Given the description of an element on the screen output the (x, y) to click on. 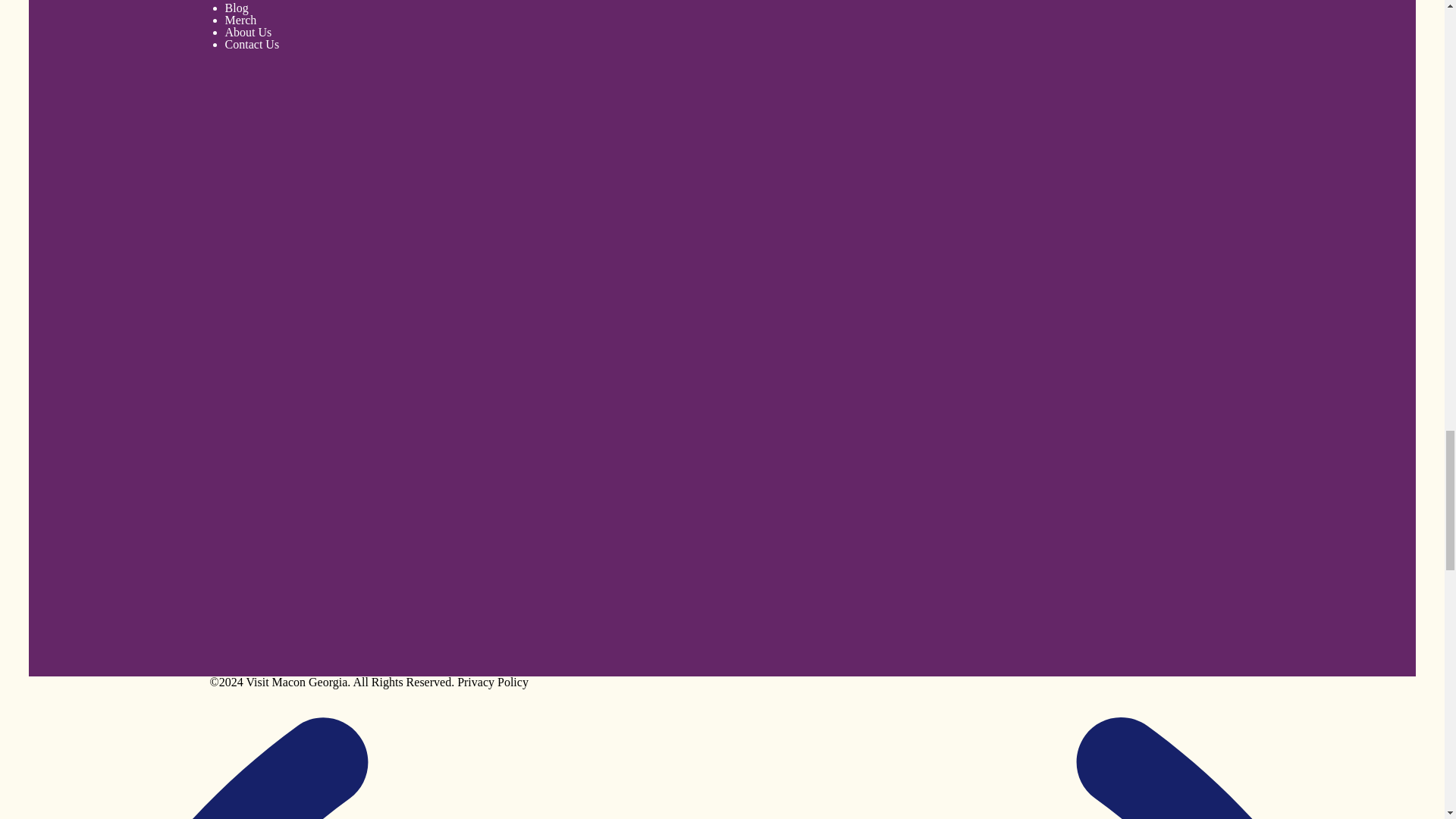
Contact Us (252, 43)
Blog (236, 7)
About Us (248, 31)
Merch (241, 19)
Privacy Policy (492, 681)
Media (240, 1)
